Given the description of an element on the screen output the (x, y) to click on. 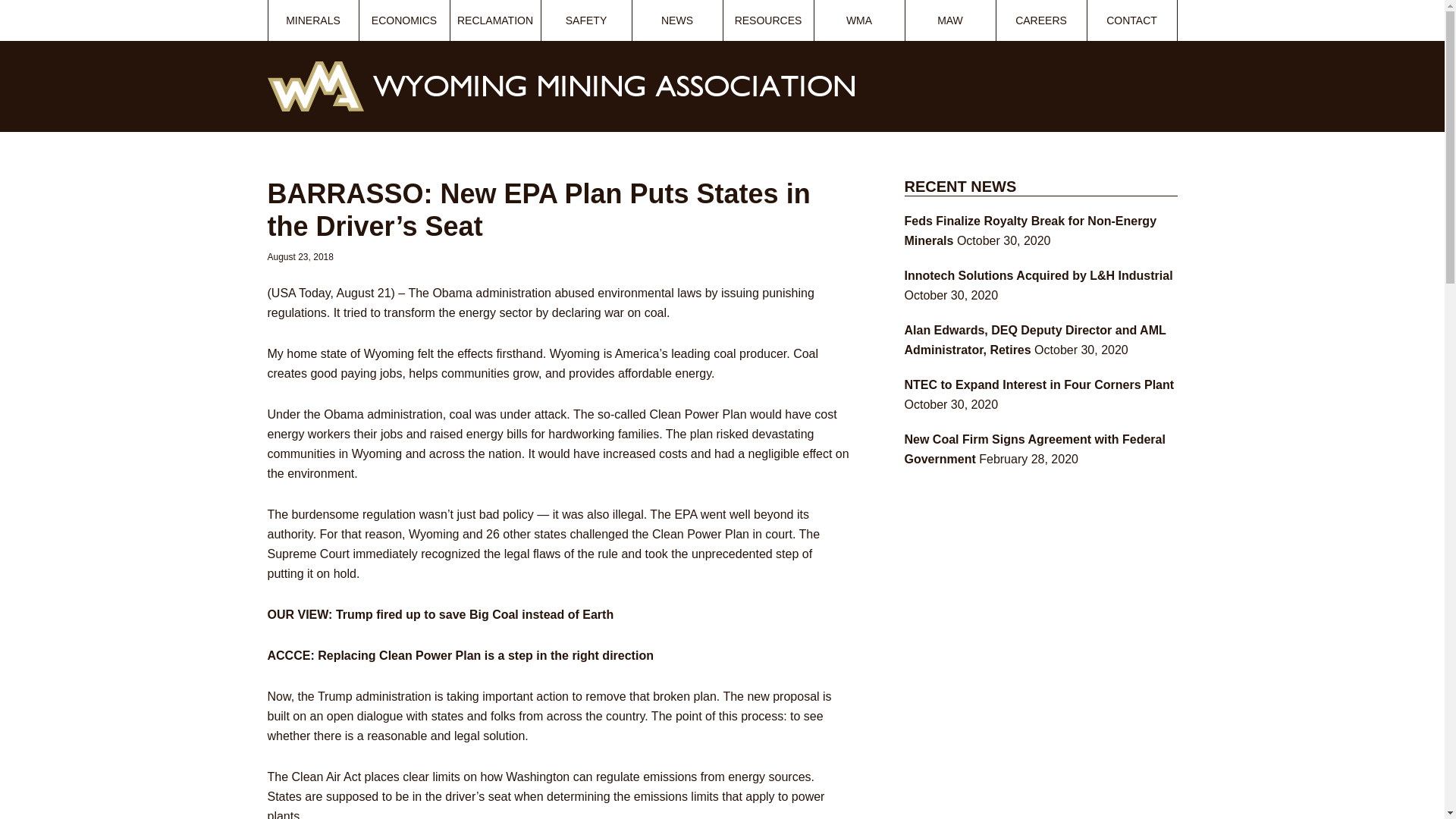
CONTACT (1131, 20)
ECONOMICS (404, 20)
CAREERS (1040, 20)
RESOURCES (768, 20)
SAFETY (586, 20)
MAW (950, 20)
NEWS (676, 20)
MINERALS (312, 20)
RECLAMATION (494, 20)
WMA (858, 20)
